Given the description of an element on the screen output the (x, y) to click on. 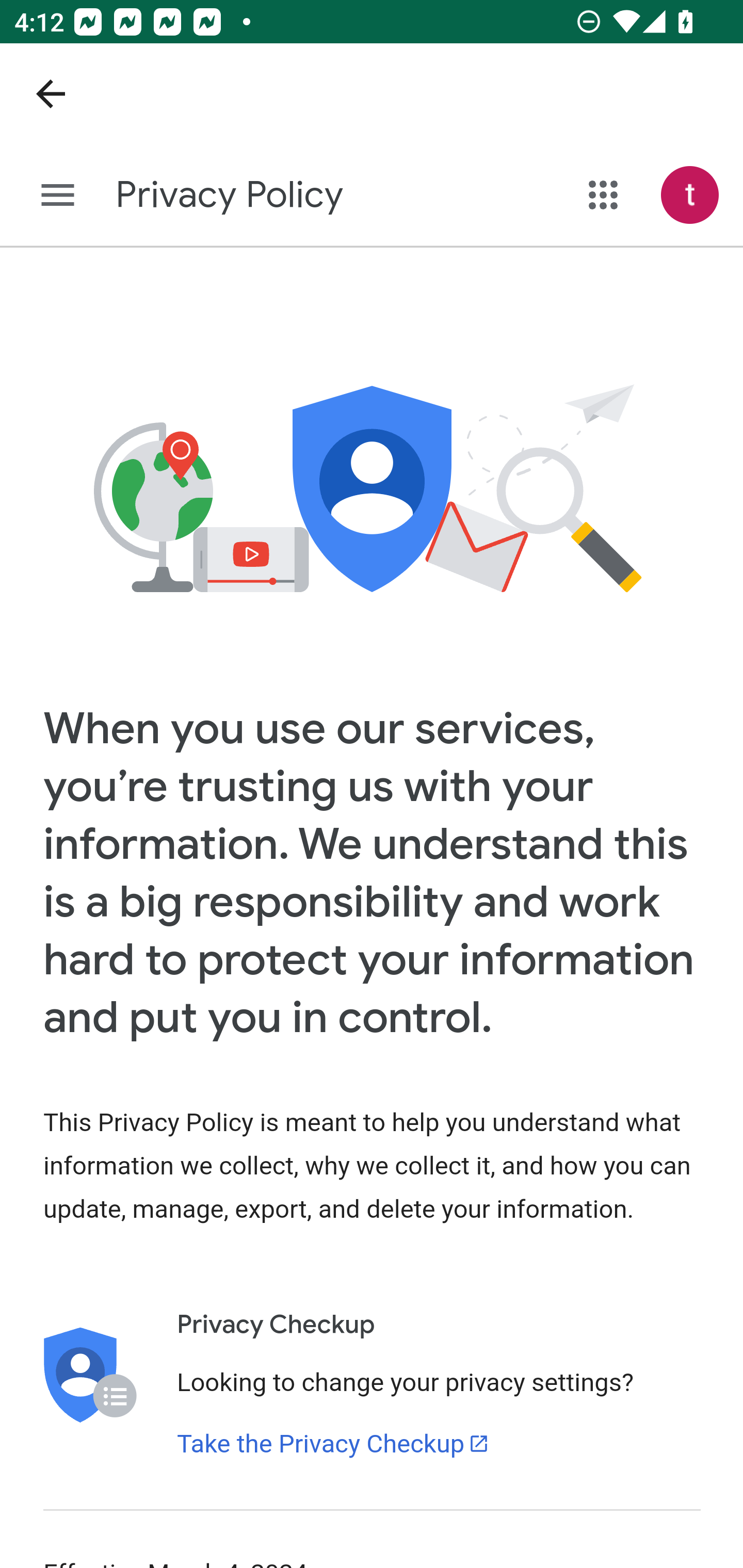
Navigate up (50, 93)
Main menu (58, 195)
Google apps (603, 195)
Take the Privacy Checkup (333, 1443)
